Given the description of an element on the screen output the (x, y) to click on. 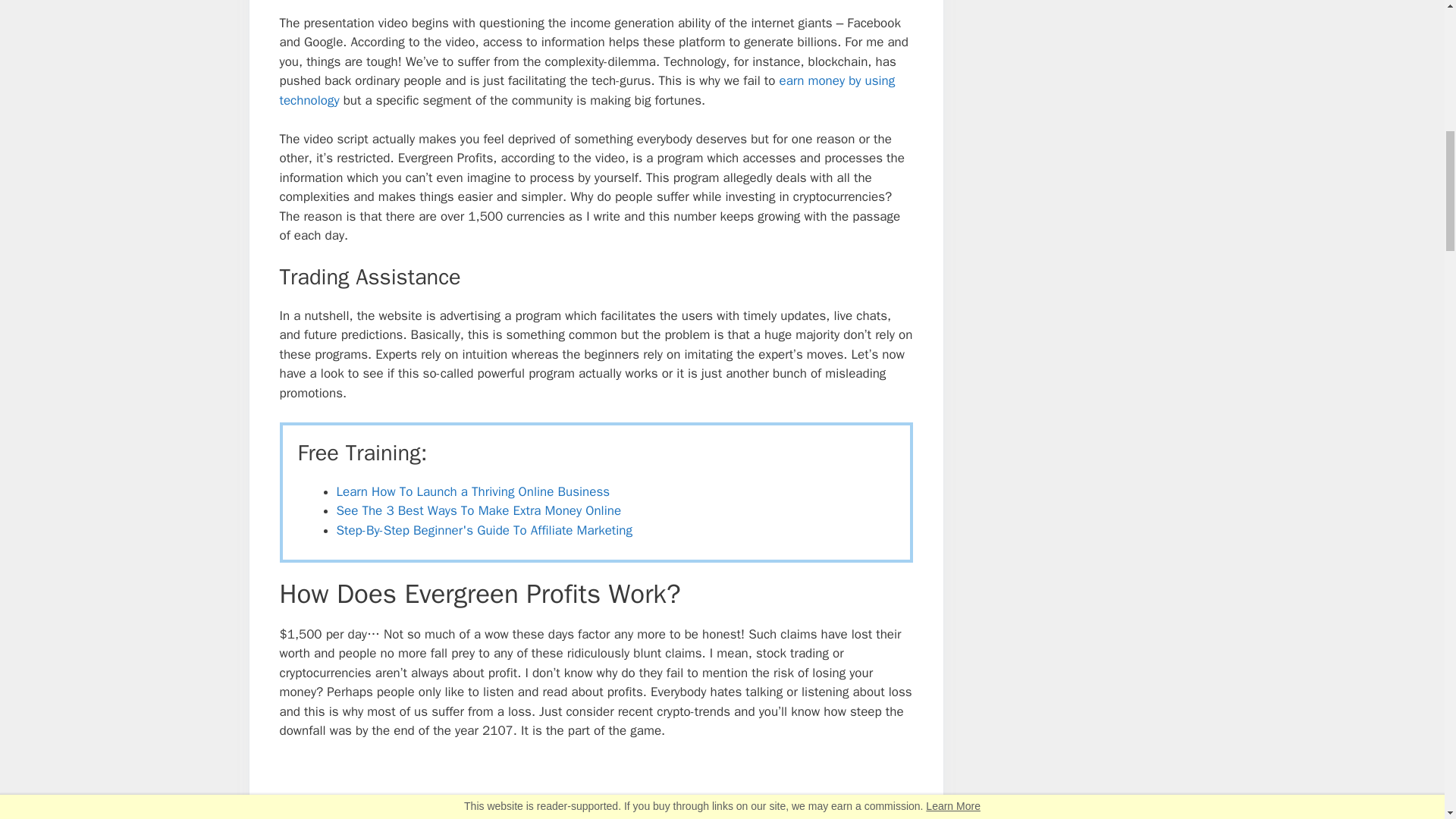
See The 3 Best Ways To Make Extra Money Online (478, 510)
Learn How To Launch a Thriving Online Business (473, 491)
earn money by using technology (587, 90)
Step-By-Step Beginner's Guide To Affiliate Marketing (483, 530)
